Given the description of an element on the screen output the (x, y) to click on. 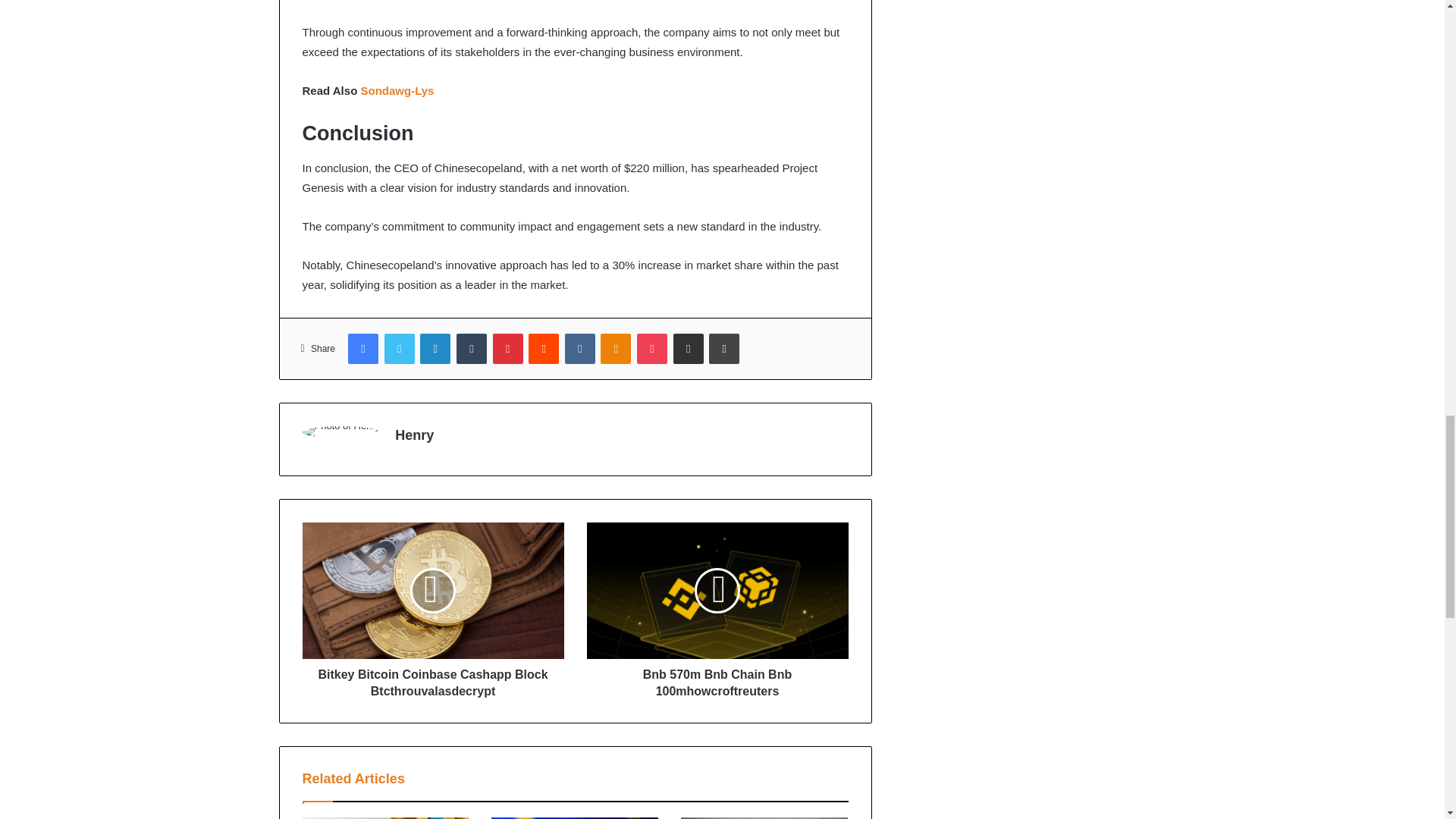
Sondawg-Lys (396, 90)
